Given the description of an element on the screen output the (x, y) to click on. 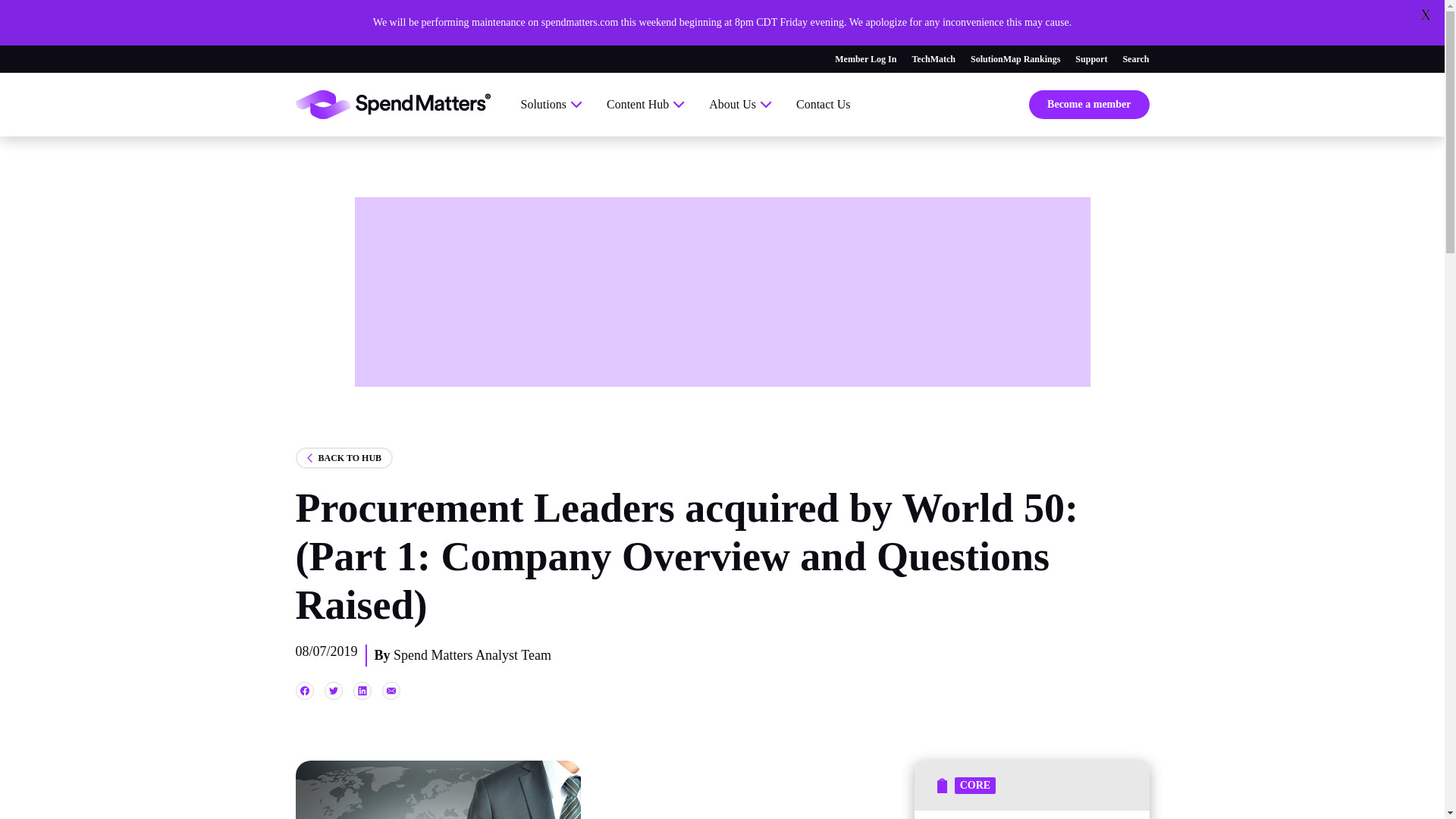
Posts by Spend Matters Analyst Team (472, 654)
Support (1090, 59)
SolutionMap Rankings (1015, 59)
Spend Matters (392, 104)
Content Hub (645, 104)
Member Log In (865, 59)
Solutions (551, 104)
Search (1135, 59)
TechMatch (933, 59)
